Given the description of an element on the screen output the (x, y) to click on. 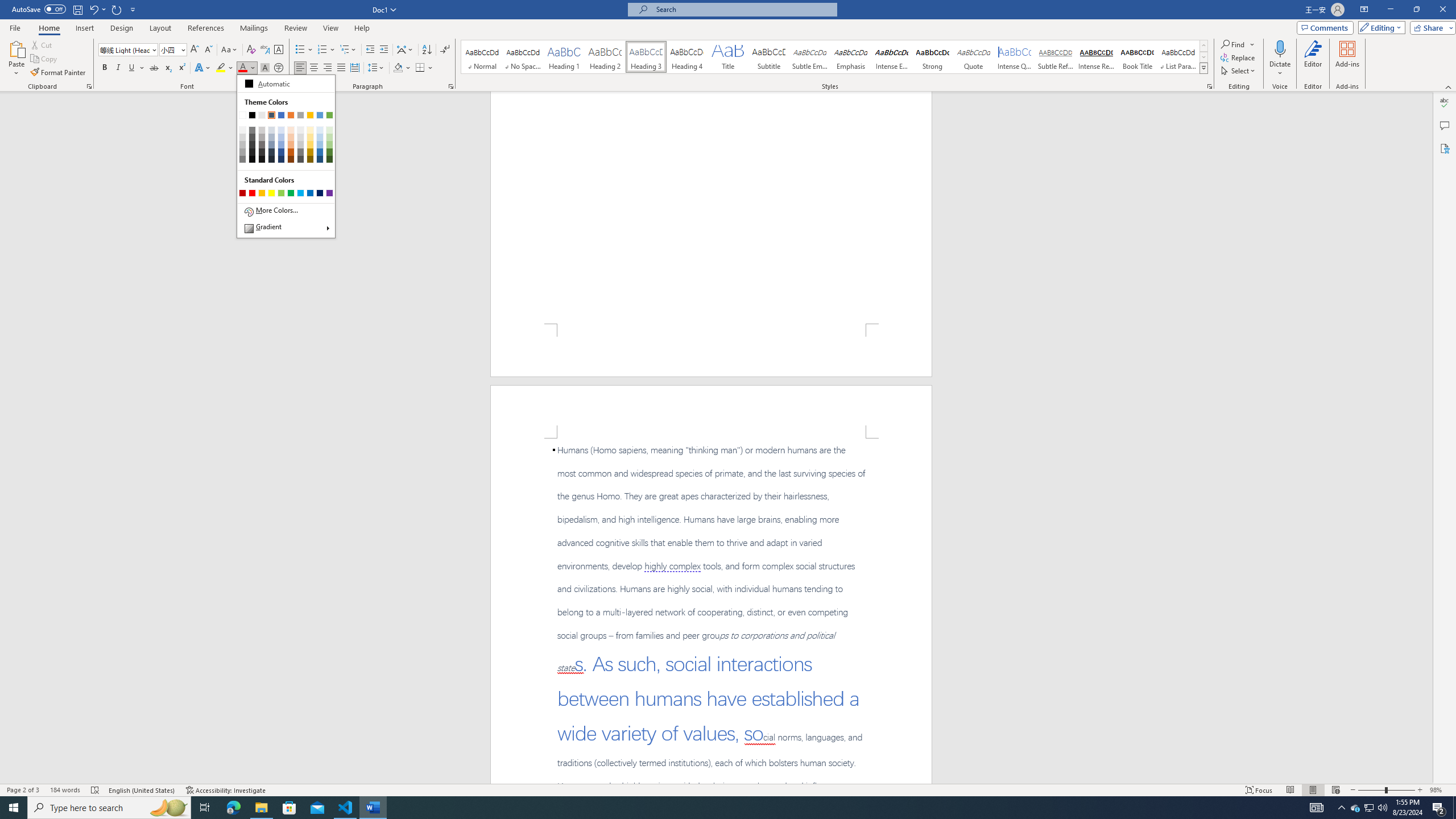
Design (122, 28)
Comments (1325, 27)
Show/Hide Editing Marks (444, 49)
Text Highlight Color (224, 67)
Italic (118, 67)
Row up (1203, 45)
Customize Quick Access Toolbar (133, 9)
View (330, 28)
Spelling and Grammar Check Errors (94, 790)
Zoom Out (1371, 790)
Class: NetUIImage (1204, 68)
User Promoted Notification Area (1368, 807)
Clear Formatting (250, 49)
References (205, 28)
